Given the description of an element on the screen output the (x, y) to click on. 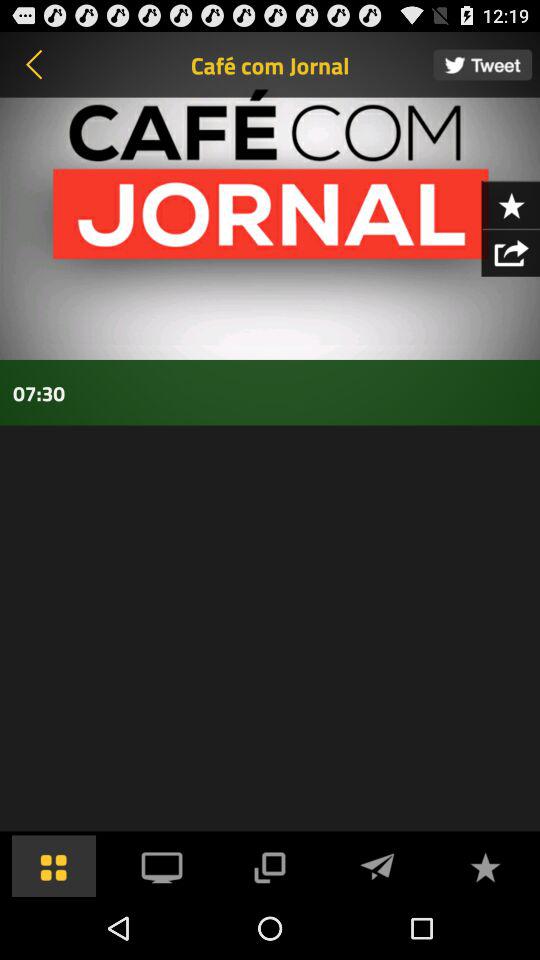
tweet the link (482, 64)
